Given the description of an element on the screen output the (x, y) to click on. 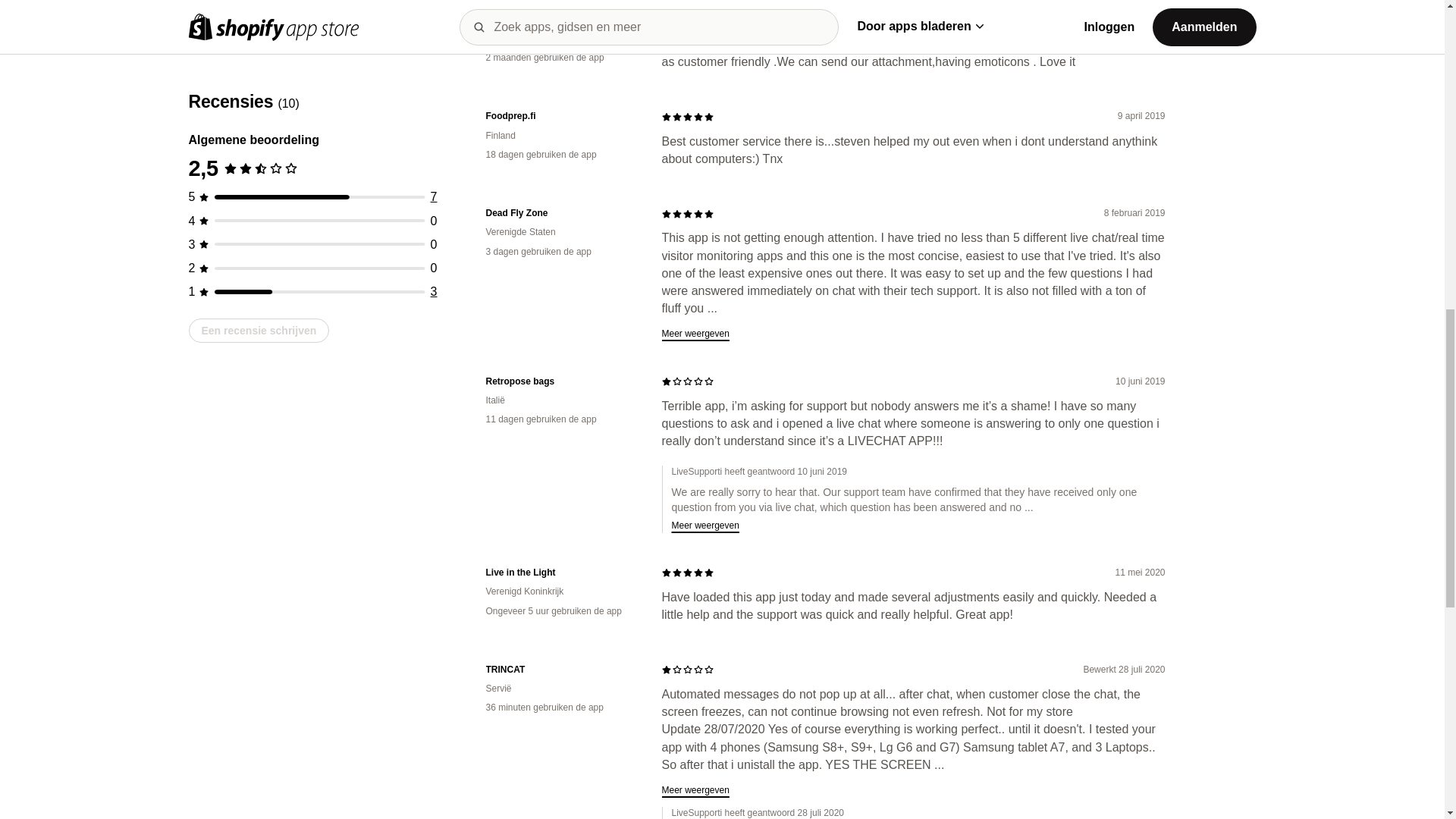
Retropose bags (560, 381)
Blanket Sauna (560, 19)
Live in the Light (560, 572)
Foodprep.fi (560, 115)
TRINCAT (560, 669)
Dead Fly Zone (560, 213)
